Given the description of an element on the screen output the (x, y) to click on. 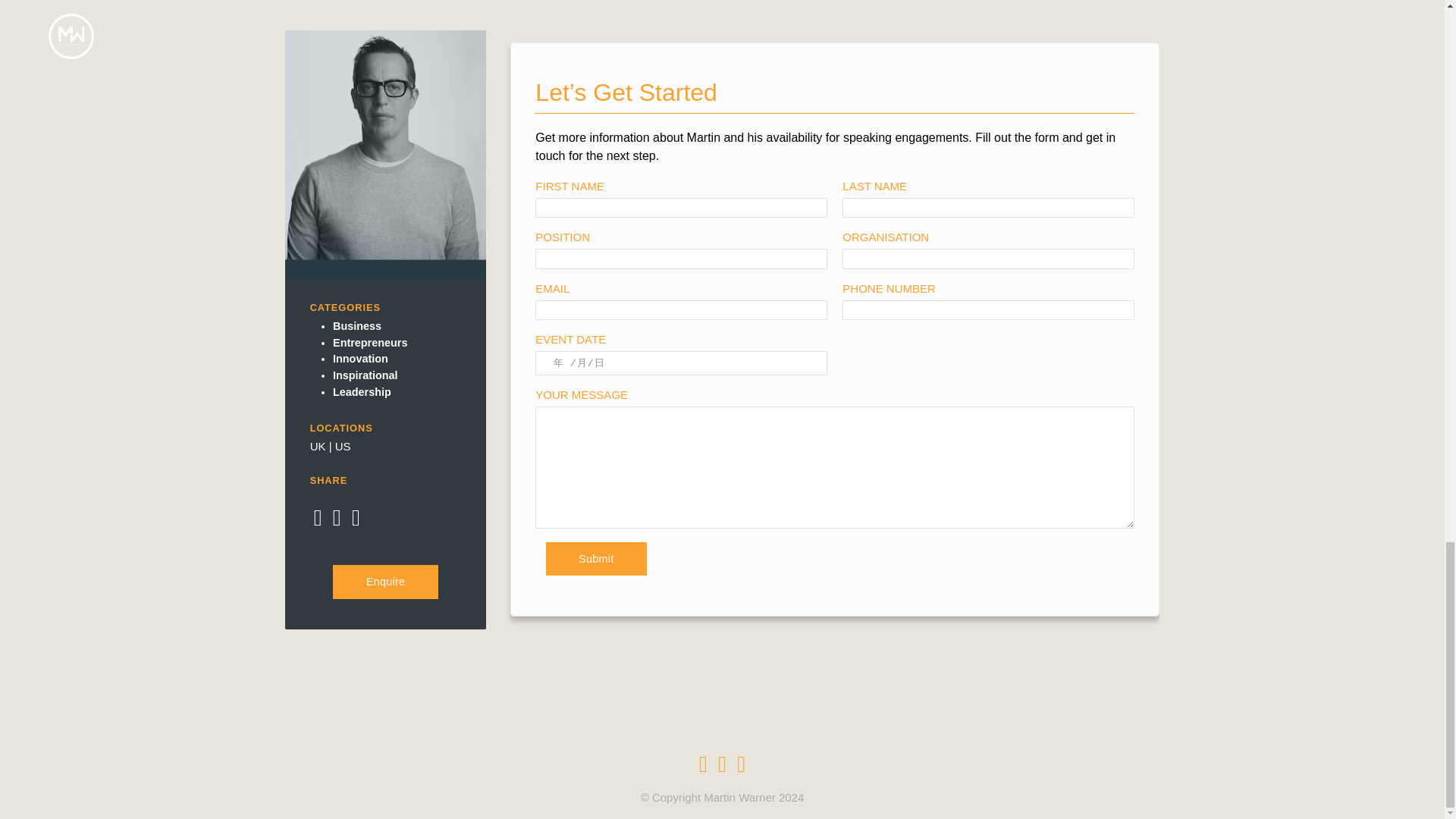
Submit (596, 559)
